Given the description of an element on the screen output the (x, y) to click on. 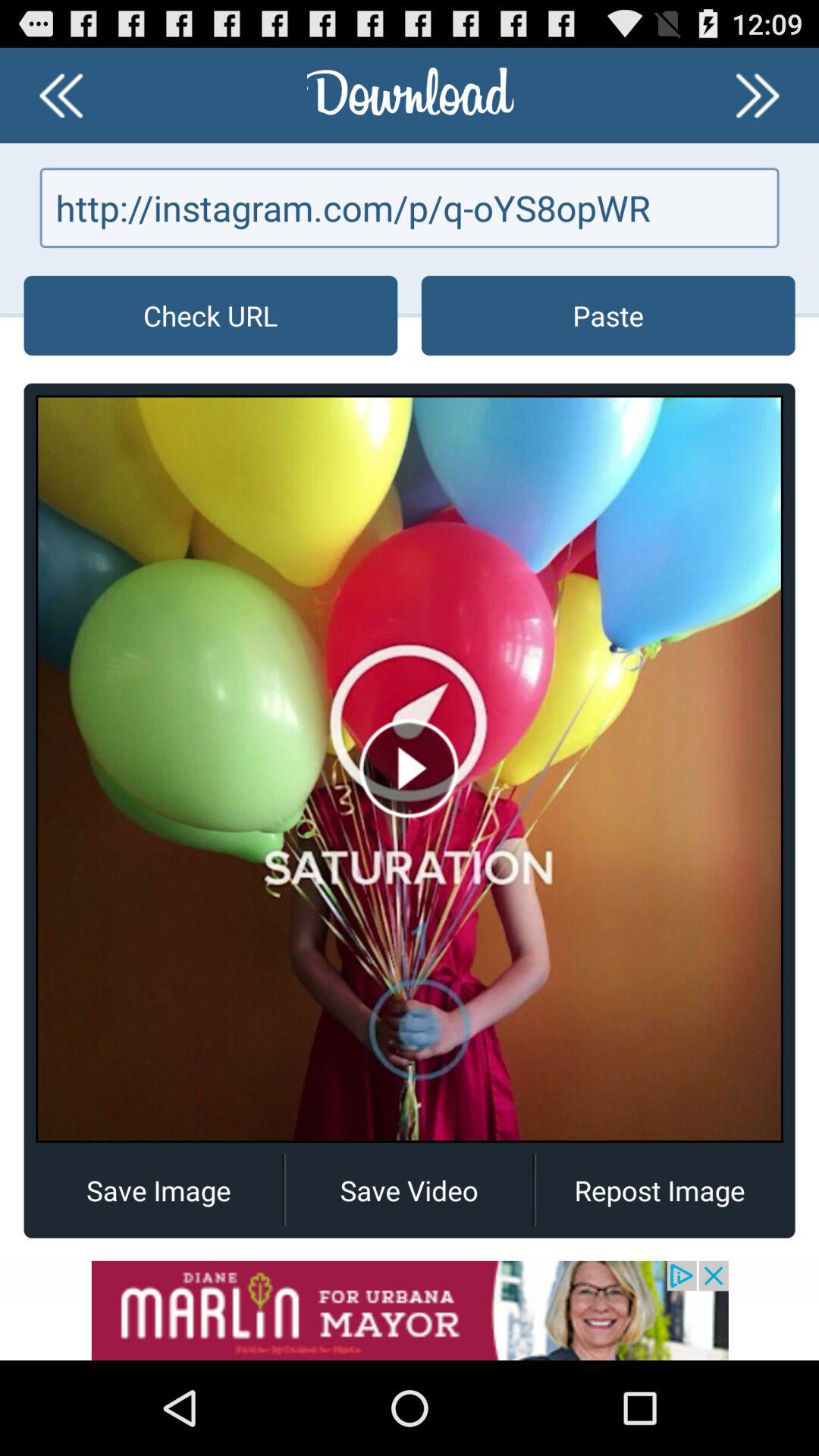
advertisement banner (409, 1310)
